Given the description of an element on the screen output the (x, y) to click on. 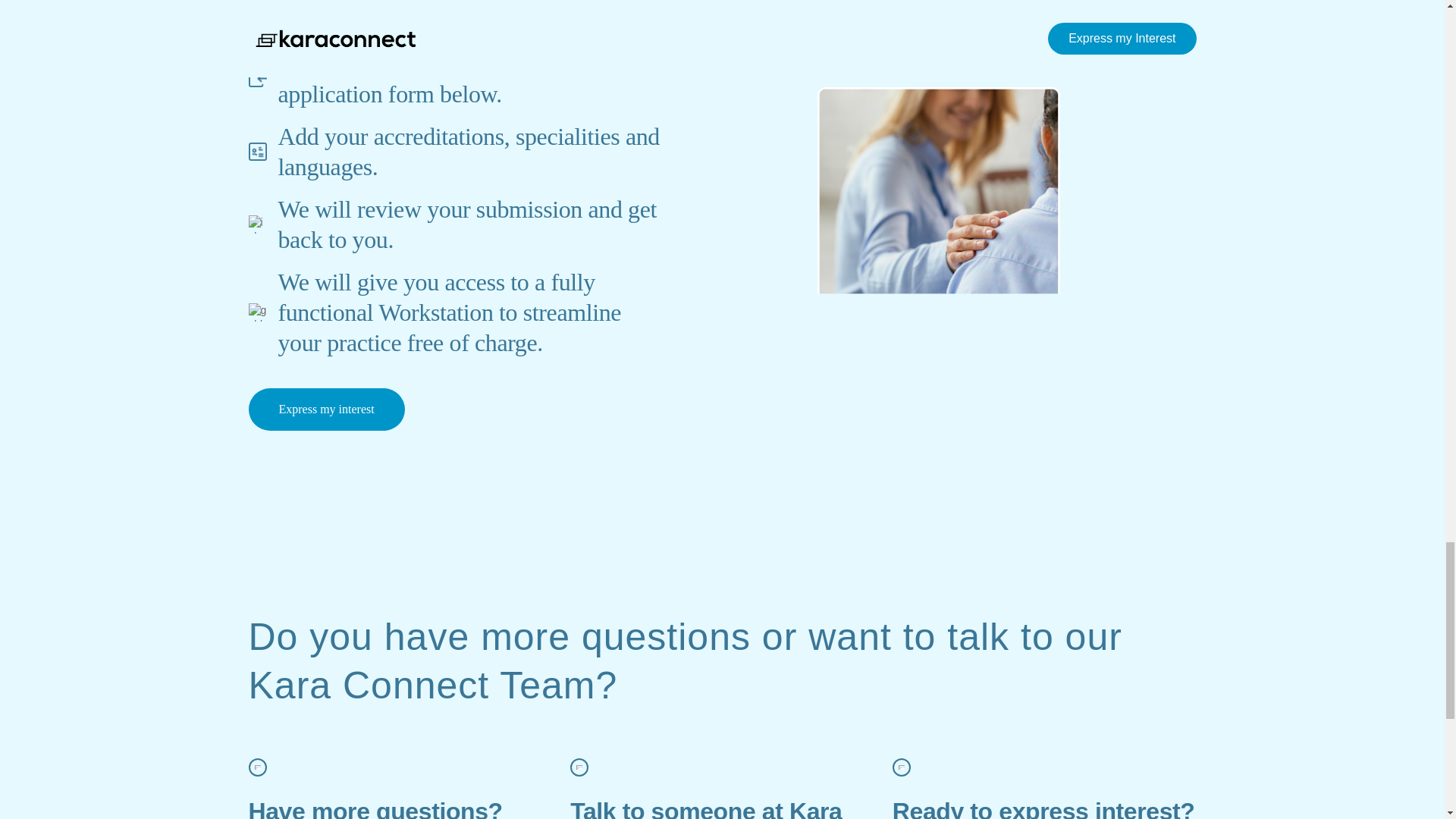
Express my interest (326, 409)
